Given the description of an element on the screen output the (x, y) to click on. 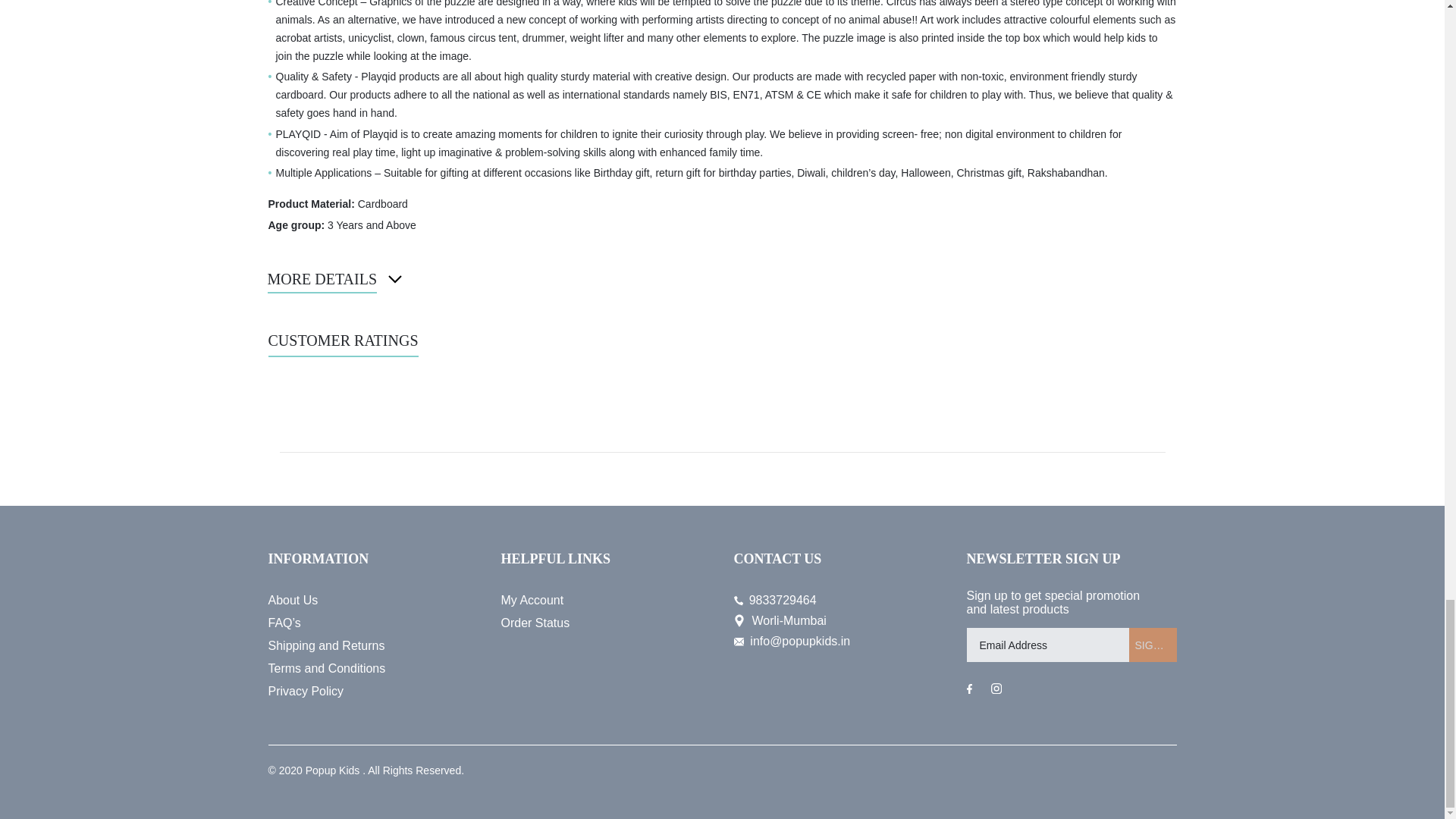
 Shipping and Returns (373, 645)
Privacy Policy (373, 691)
Terms and Conditions (373, 668)
My Account (605, 599)
Order Status (605, 622)
About Us (373, 599)
Sign up (1152, 644)
